Given the description of an element on the screen output the (x, y) to click on. 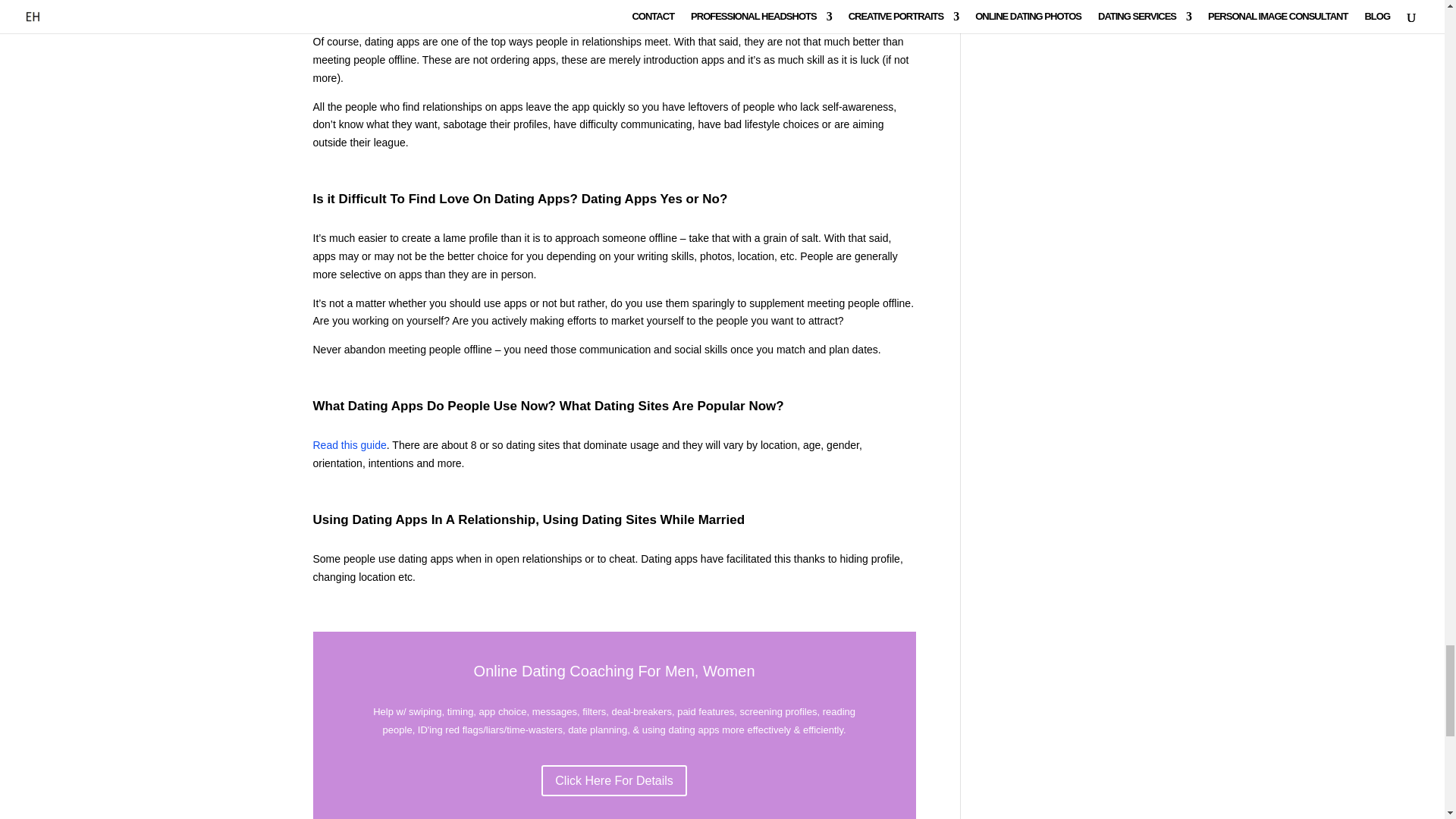
Click Here For Details (614, 780)
Read this guide (349, 444)
